Given the description of an element on the screen output the (x, y) to click on. 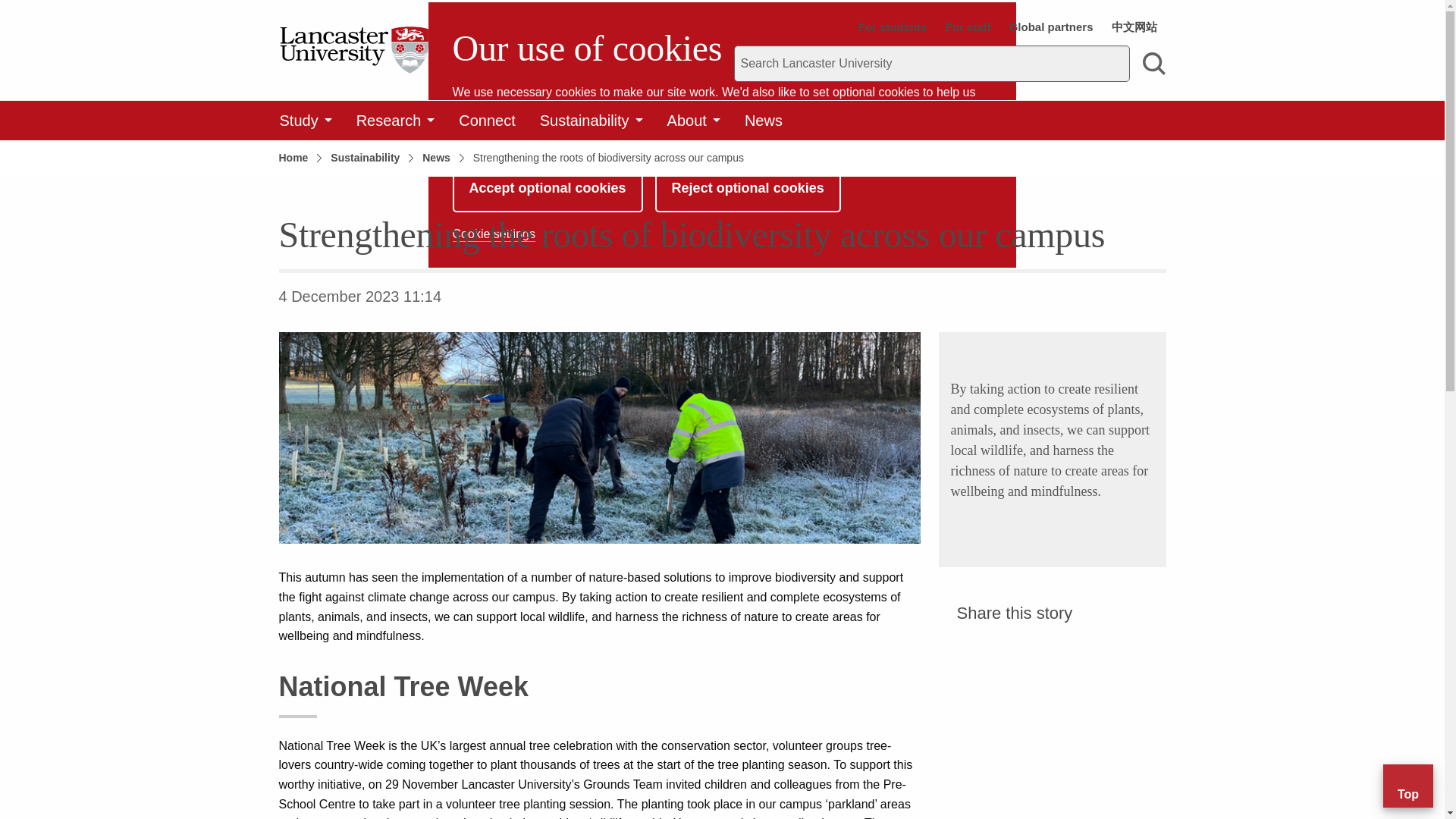
Cookie settings (493, 234)
For staff (967, 27)
Study (304, 120)
For students (893, 27)
Global partners (1051, 27)
Reject optional cookies (748, 187)
Accept optional cookies (547, 187)
